Given the description of an element on the screen output the (x, y) to click on. 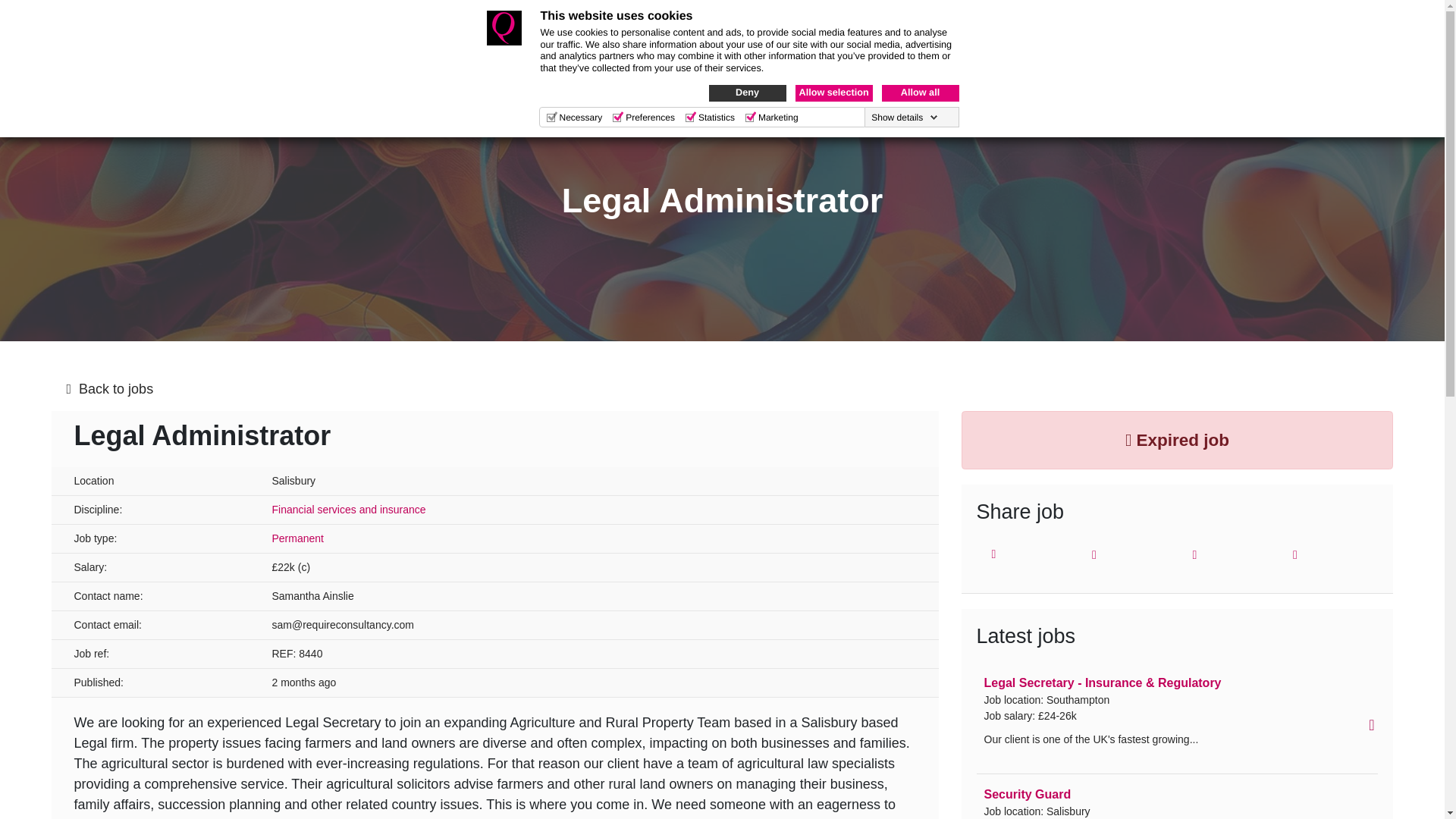
Allow selection (833, 93)
01722 741840 (1060, 32)
Login (1275, 32)
Show details (903, 117)
Allow all (919, 93)
Deny (746, 93)
